Given the description of an element on the screen output the (x, y) to click on. 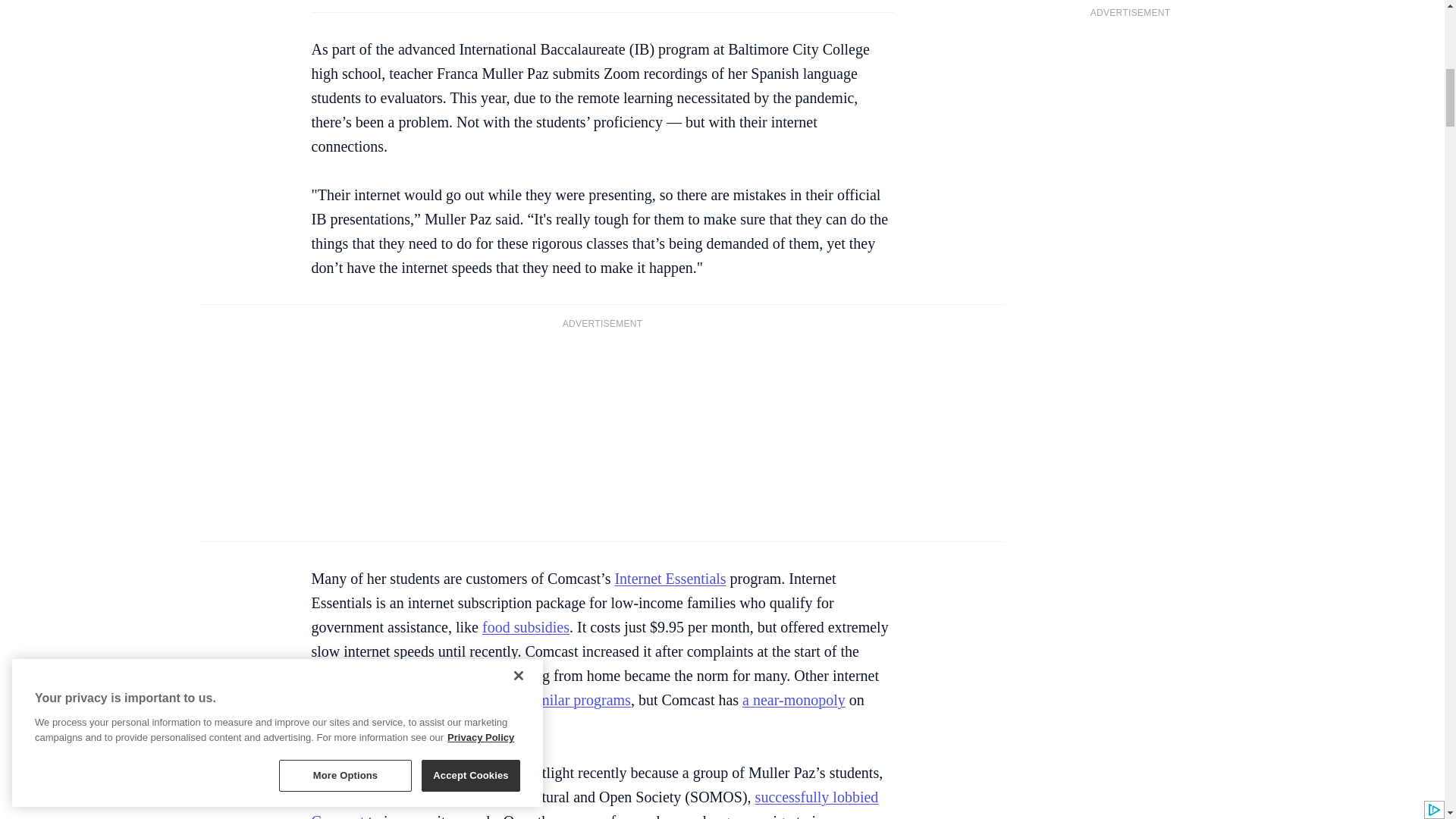
3rd party ad content (601, 433)
